Given the description of an element on the screen output the (x, y) to click on. 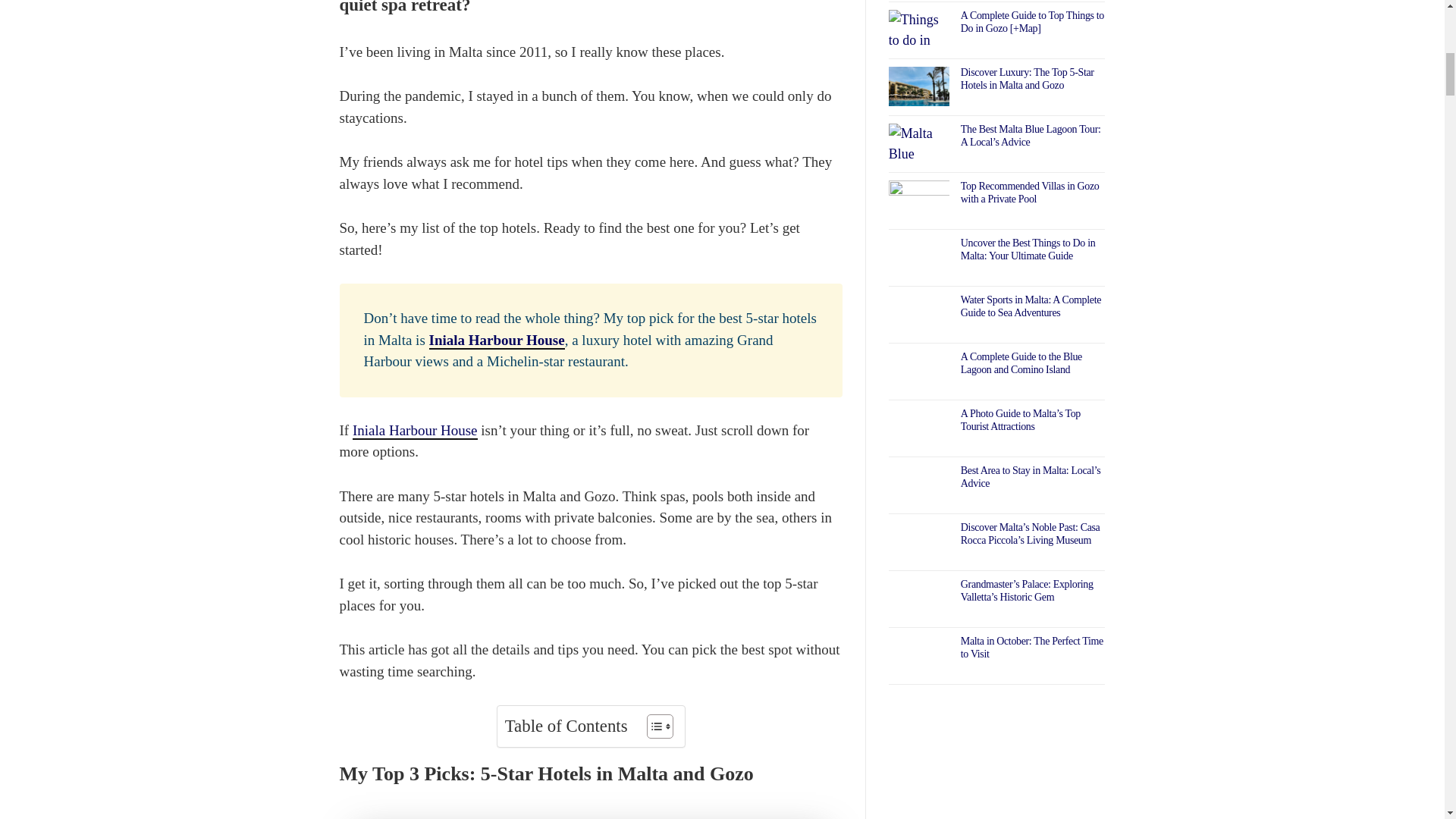
Iniala Harbour House (496, 340)
Iniala Harbour House (414, 430)
